Given the description of an element on the screen output the (x, y) to click on. 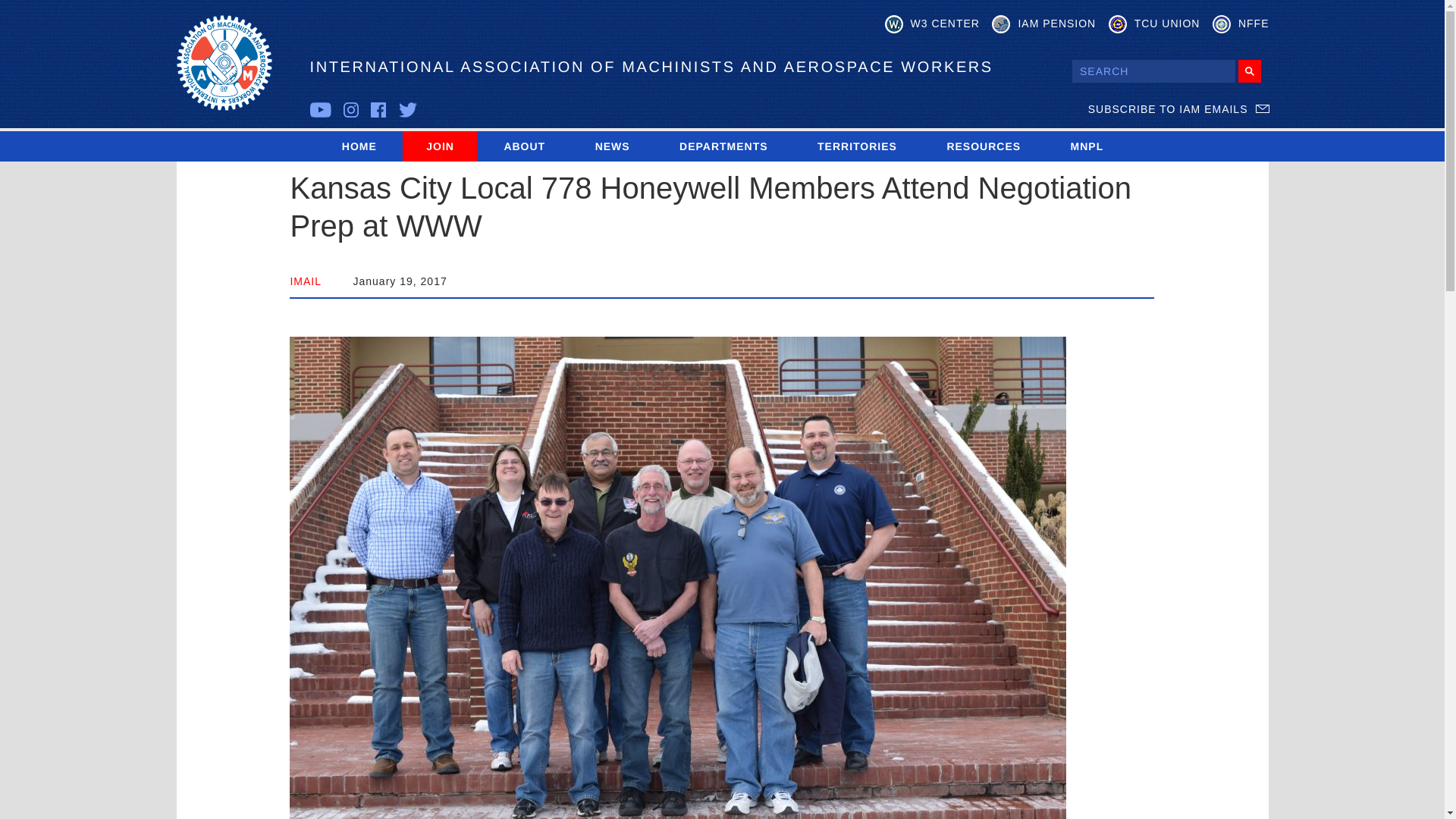
IMAIL (305, 281)
MNPL (1086, 146)
TERRITORIES (856, 146)
JOIN (440, 146)
SUBSCRIBE TO IAM EMAILS (1178, 108)
RESOURCES (983, 146)
IAM PENSION (1043, 24)
TCU UNION (1153, 24)
NFFE (1240, 24)
NEWS (612, 146)
